Given the description of an element on the screen output the (x, y) to click on. 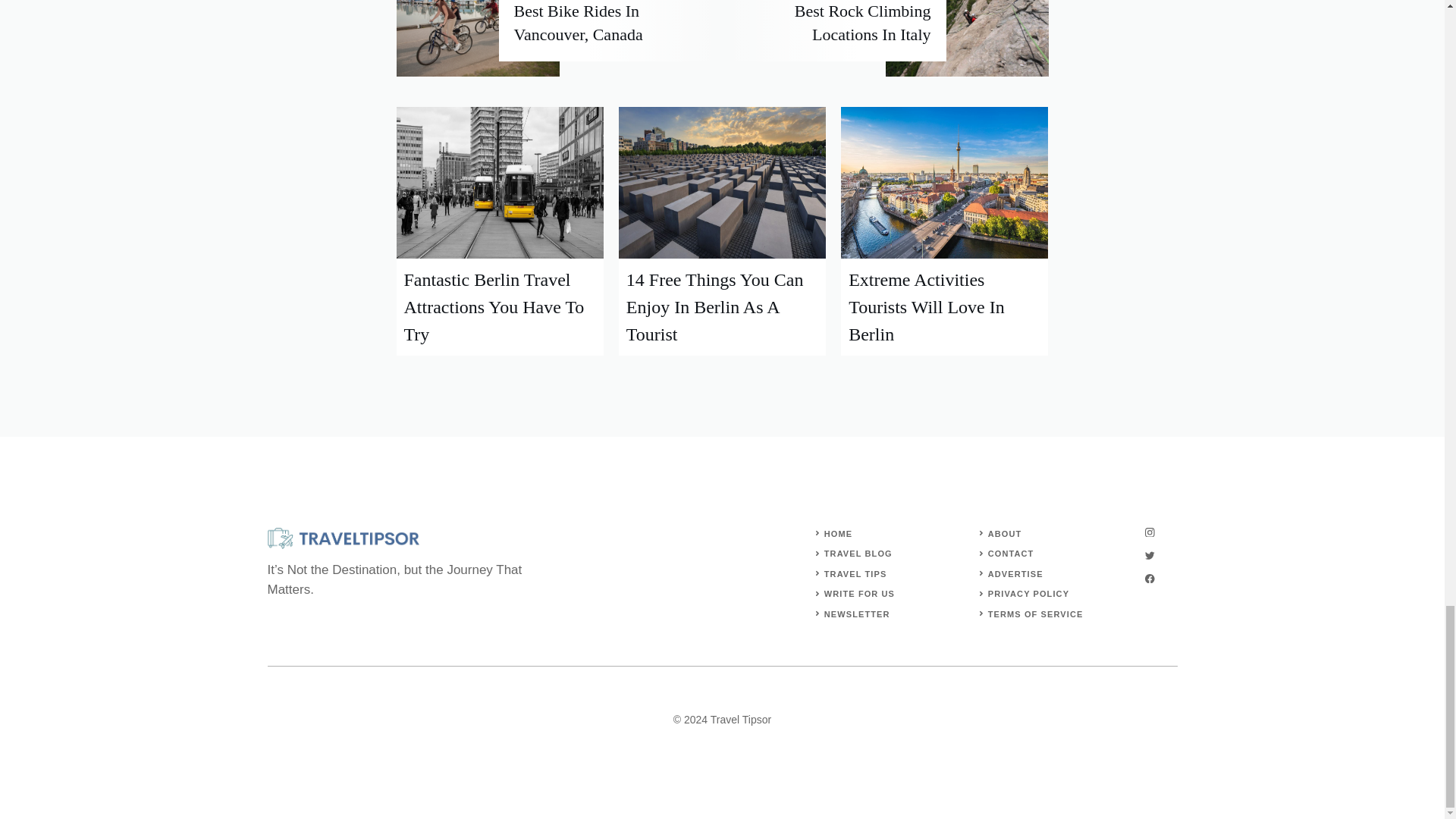
TRAVEL TIPS (855, 573)
Best Rock Climbing Locations In Italy (862, 22)
WRITE FOR US (859, 593)
TRAVEL BLOG (858, 552)
HOME (837, 533)
ADVERTISE (1015, 573)
Best Bike Rides In Vancouver, Canada (578, 22)
CONTACT (1010, 552)
NEWSLETTER (856, 614)
ABOUT (1005, 533)
travel-tipsor-logo (342, 538)
